Given the description of an element on the screen output the (x, y) to click on. 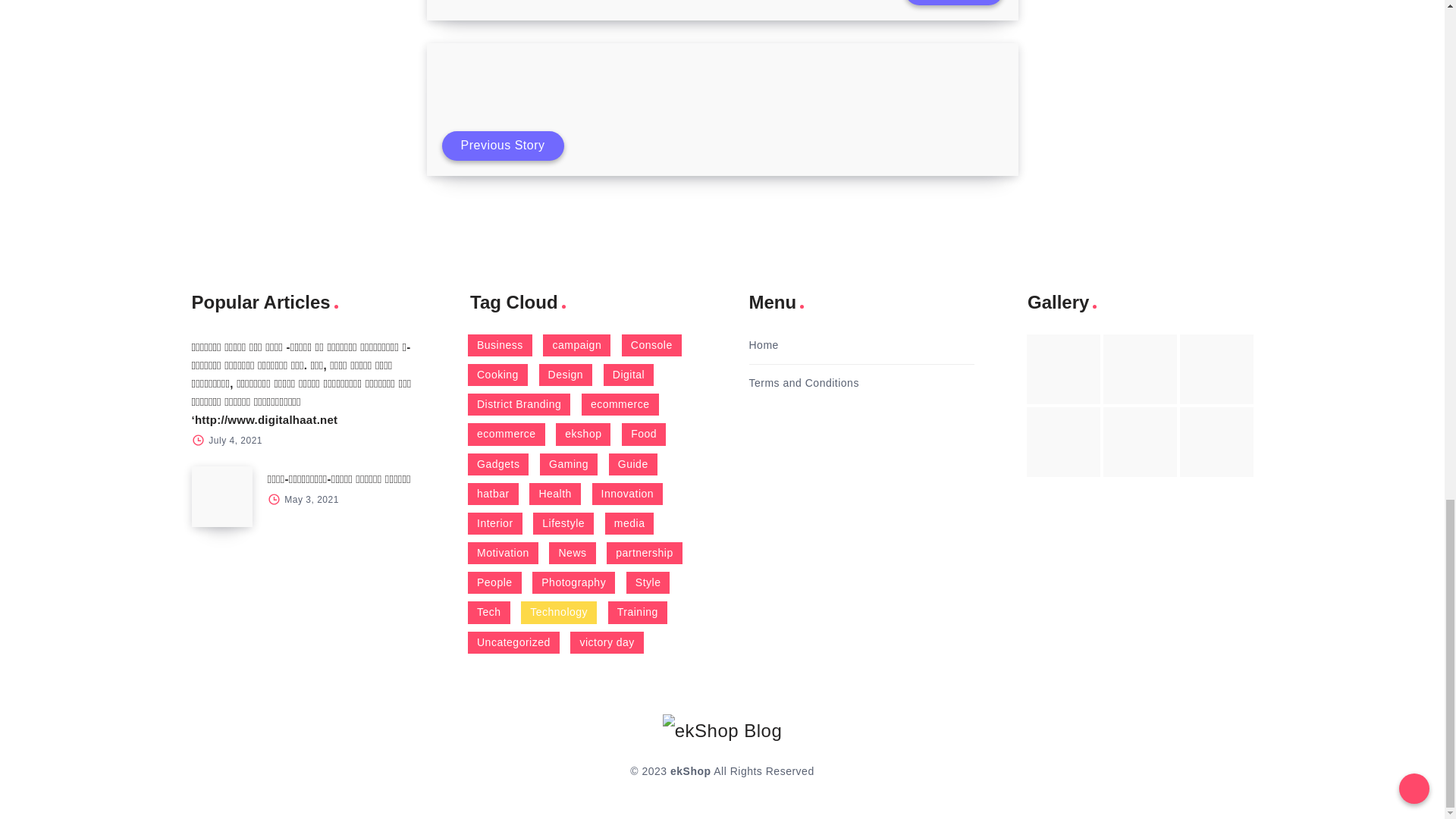
Business (499, 345)
Gadgets (497, 464)
Food (643, 434)
Digital (628, 374)
Cooking (497, 374)
ekshop (583, 434)
ecommerce (619, 404)
Console (651, 345)
Design (565, 374)
ecommerce (505, 434)
